Given the description of an element on the screen output the (x, y) to click on. 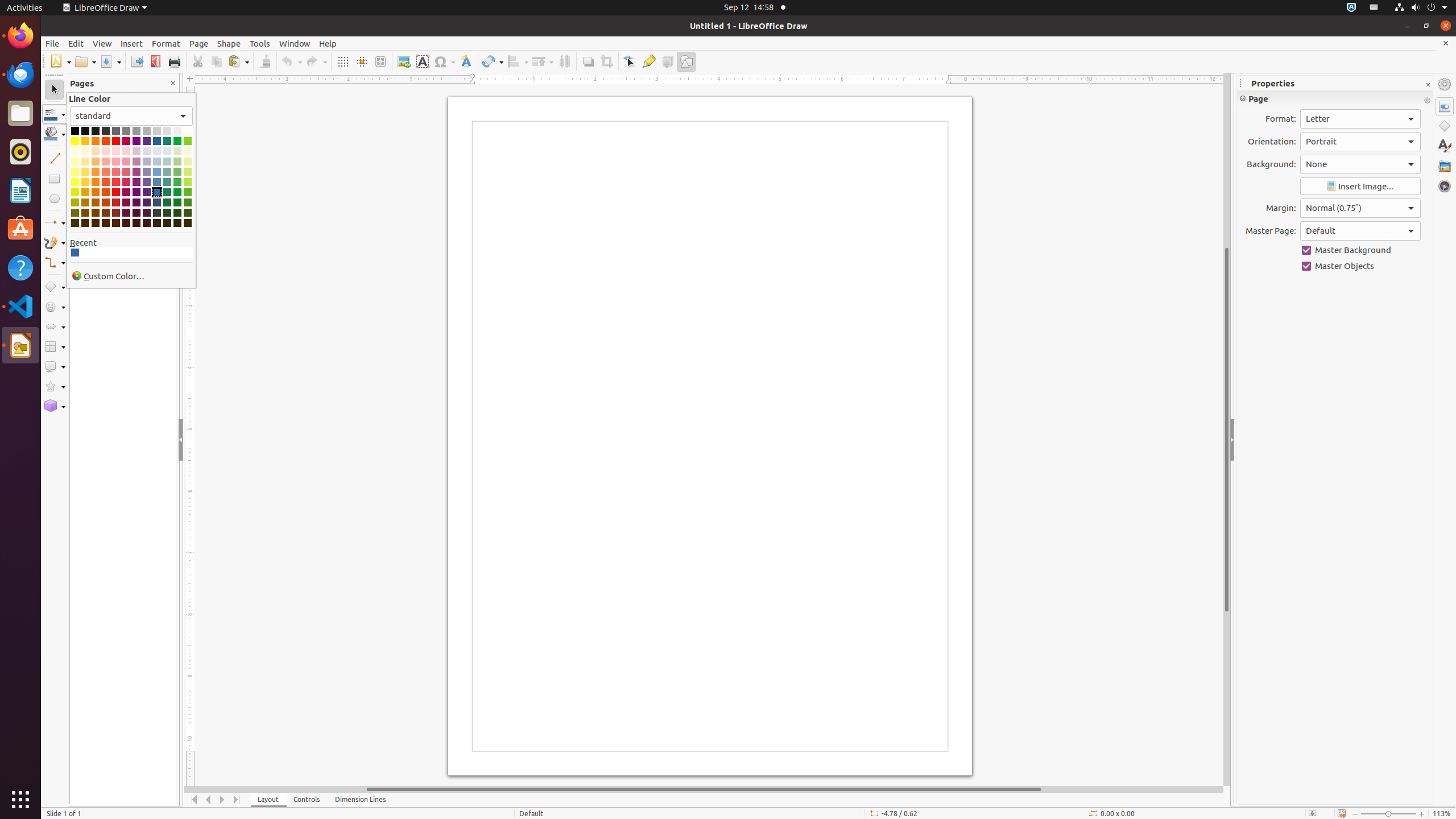
Light Orange 2 Element type: list-item (95, 171)
Light Orange 3 Element type: list-item (95, 161)
Export Element type: push-button (136, 61)
Light Green 1 Element type: list-item (177, 181)
Move Right Element type: push-button (222, 799)
